Given the description of an element on the screen output the (x, y) to click on. 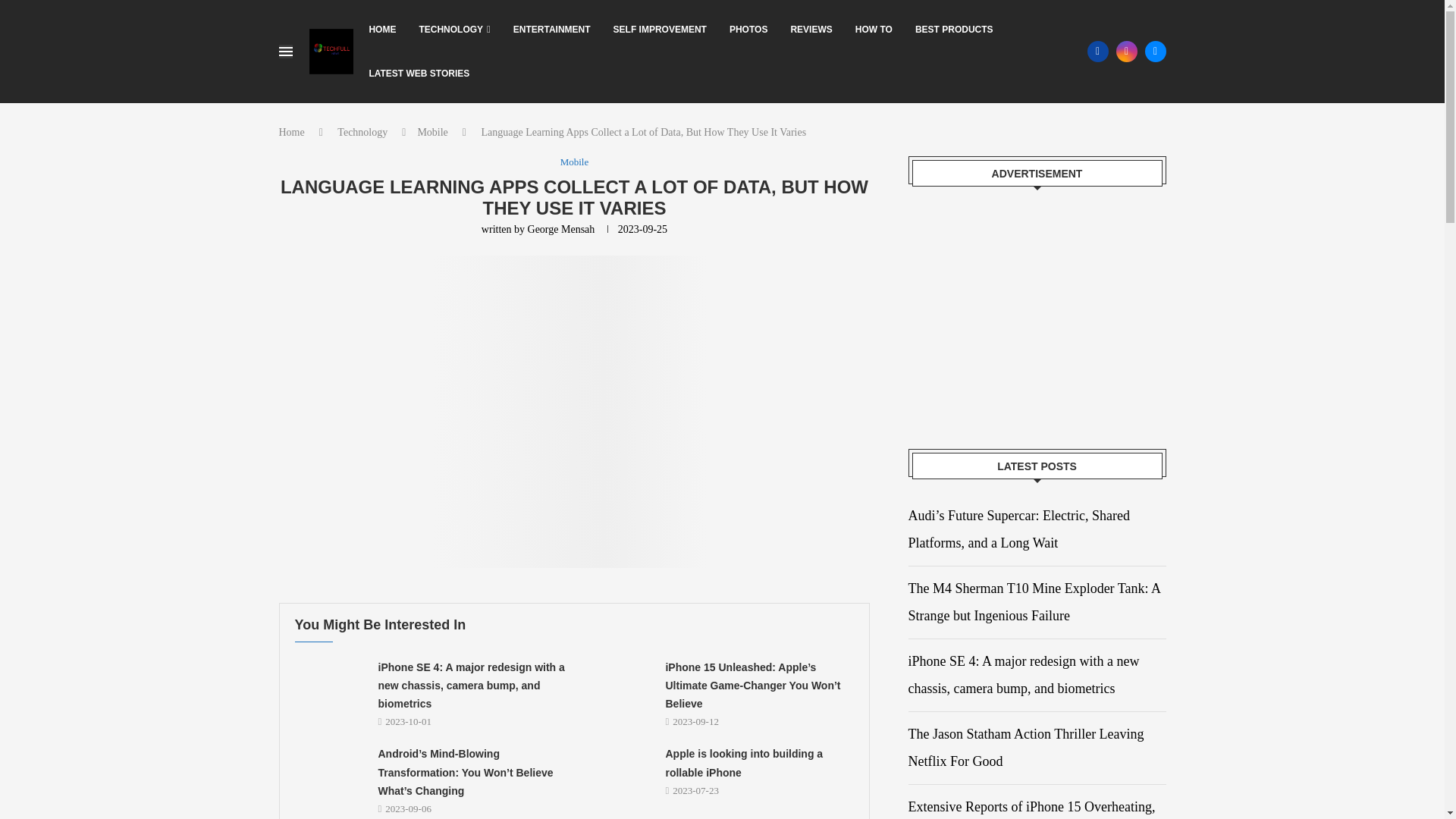
BEST PRODUCTS (953, 29)
Apple is looking into building a rollable iPhone (614, 770)
TECHNOLOGY (454, 29)
SELF IMPROVEMENT (659, 29)
ENTERTAINMENT (552, 29)
LATEST WEB STORIES (418, 73)
REVIEWS (810, 29)
